Given the description of an element on the screen output the (x, y) to click on. 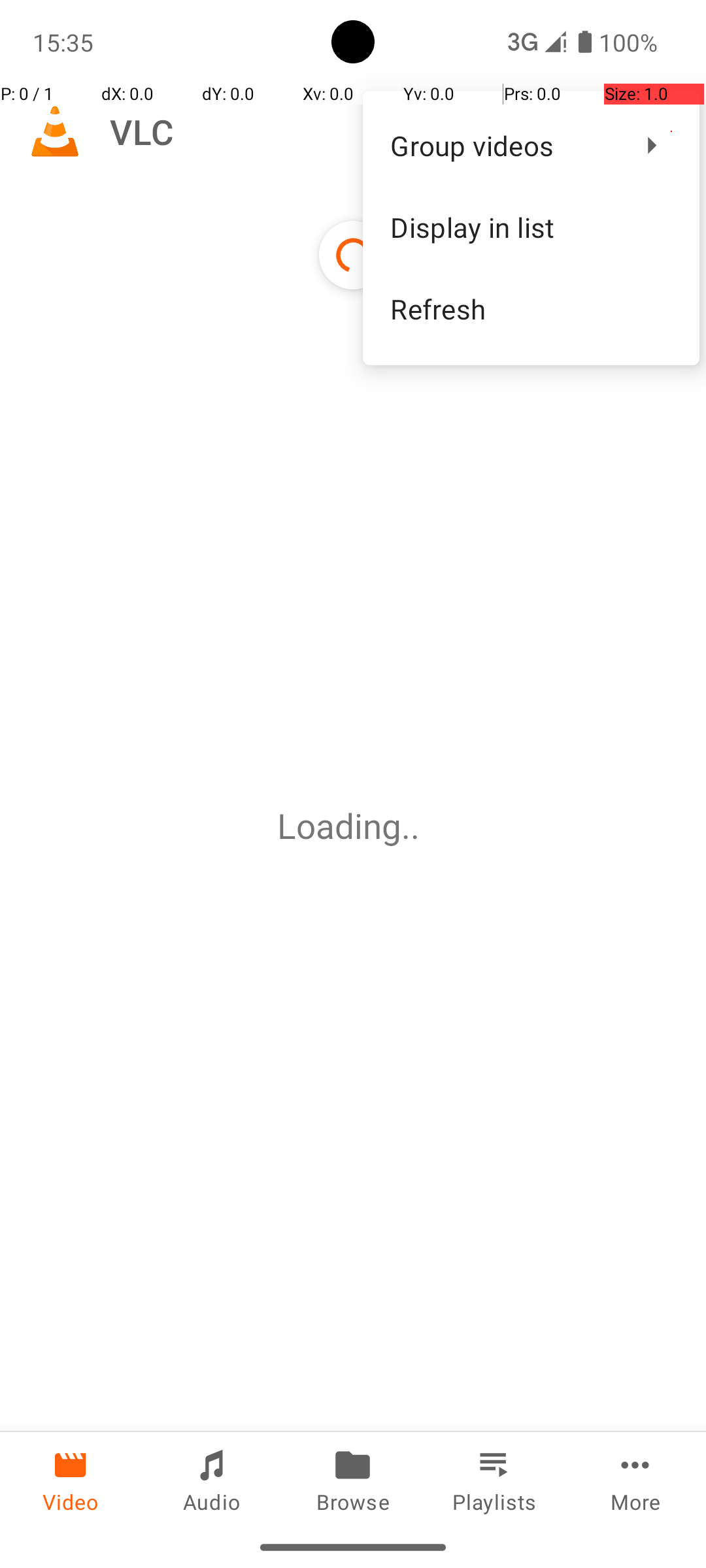
Group videos Element type: android.widget.TextView (503, 144)
Display in list Element type: android.widget.TextView (531, 226)
Refresh Element type: android.widget.TextView (531, 308)
